Given the description of an element on the screen output the (x, y) to click on. 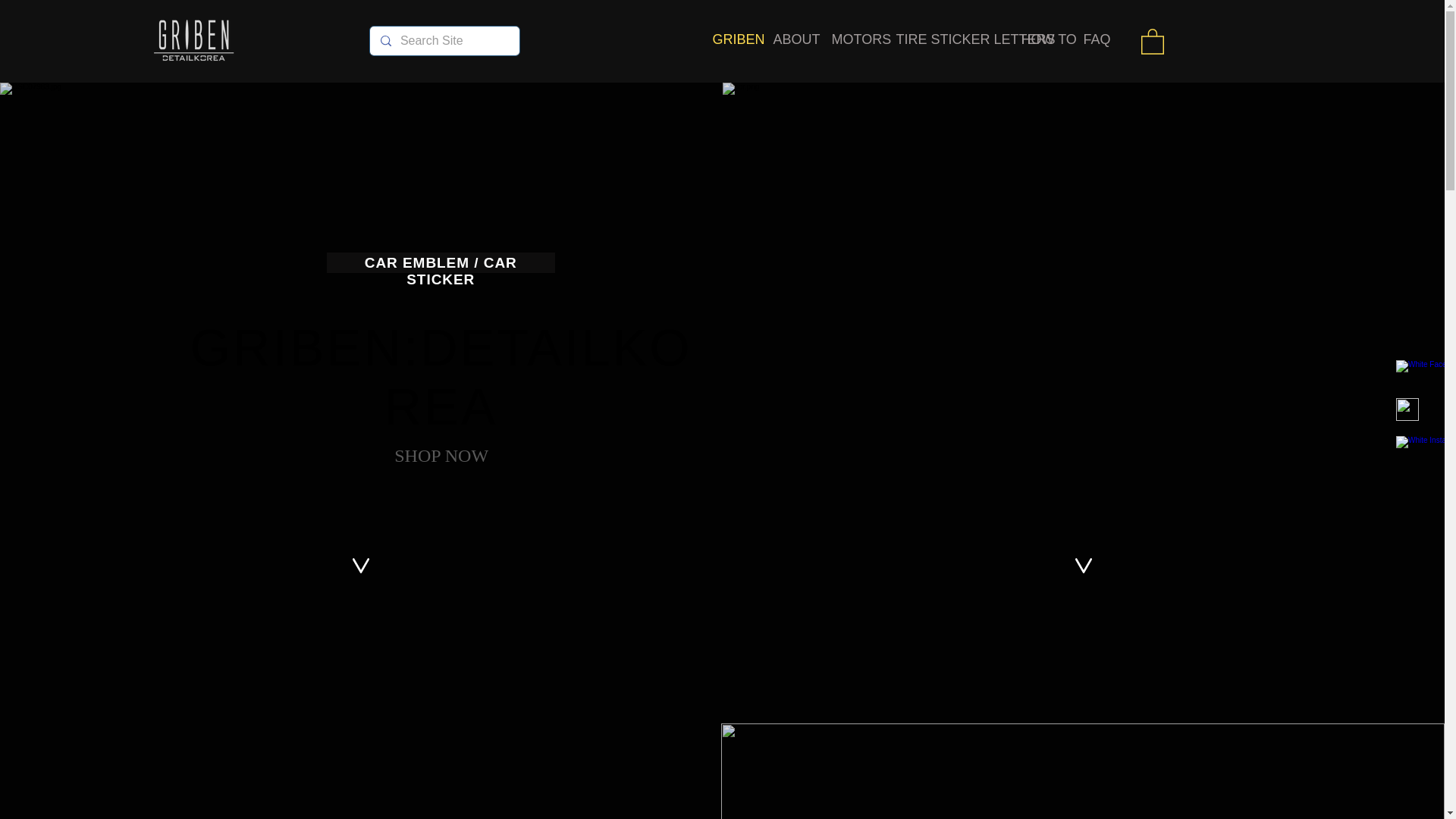
SHOP NOW (440, 456)
MOTORS (853, 39)
HOW TO (1040, 39)
TIRE STICKER LETTERS (946, 39)
GRIBEN (730, 39)
ABOUT (790, 39)
